Given the description of an element on the screen output the (x, y) to click on. 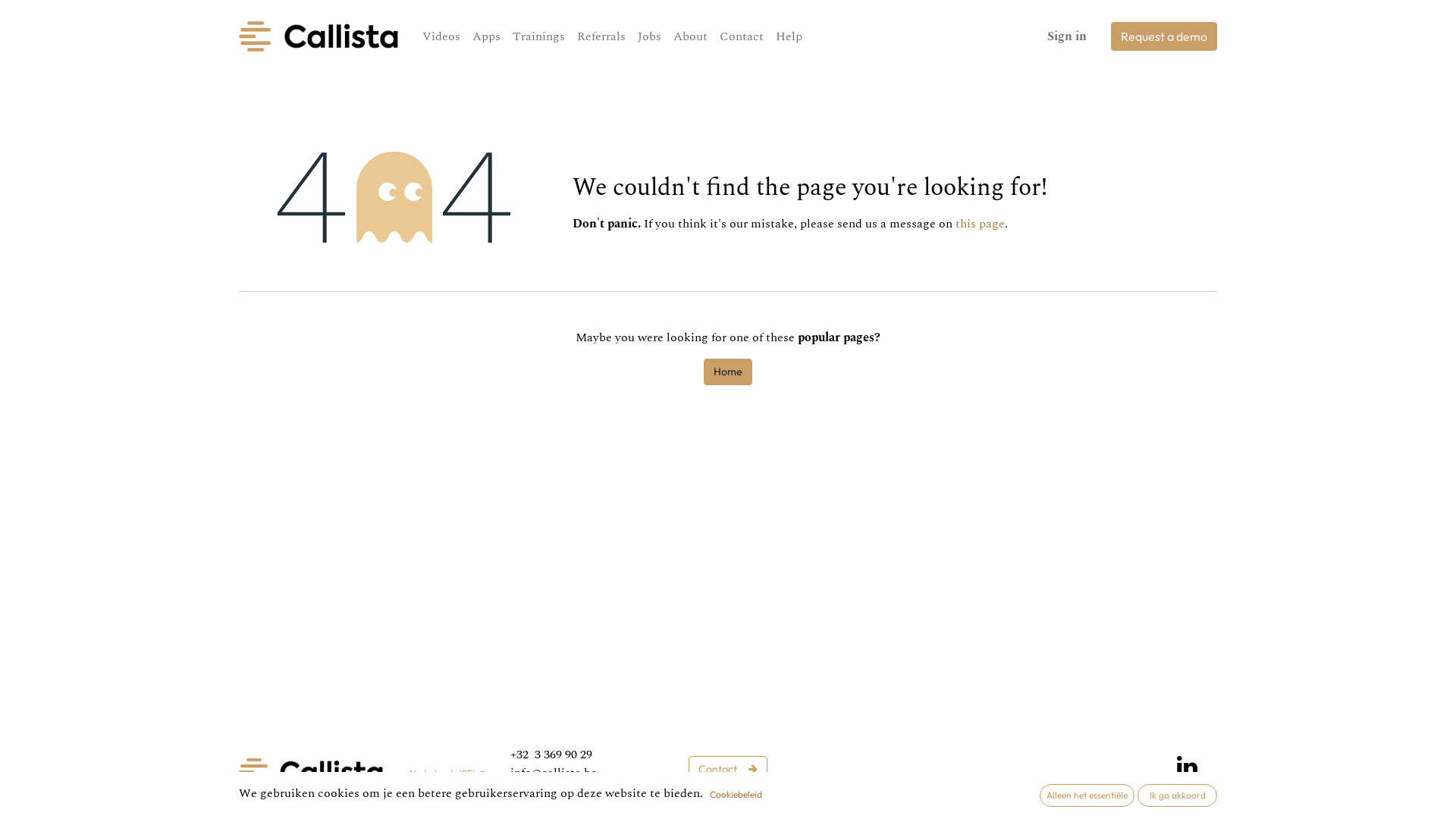
Referrals Element type: text (601, 36)
  About us  Element type: text (924, 777)
Apps Element type: text (486, 36)
Help Element type: text (1023, 777)
Help Element type: text (788, 36)
Callista Business Software Element type: hover (318, 36)
Sign in Element type: text (1066, 36)
Contact Element type: text (741, 36)
Contact     Element type: text (727, 769)
Jobs Element type: text (649, 36)
Jobs Element type: text (980, 777)
About Element type: text (690, 36)
Trainings Element type: text (538, 36)
Referrals Element type: text (858, 777)
Home Element type: text (727, 371)
Nederlands (BE) Element type: text (446, 773)
Request a demo Element type: text (1163, 35)
Ik ga akkoord Element type: text (1177, 795)
this page Element type: text (979, 223)
   Element type: text (606, 790)
Cookiebeleid Element type: text (735, 794)
MijnBedrijf Element type: hover (310, 771)
Videos Element type: text (441, 36)
